Given the description of an element on the screen output the (x, y) to click on. 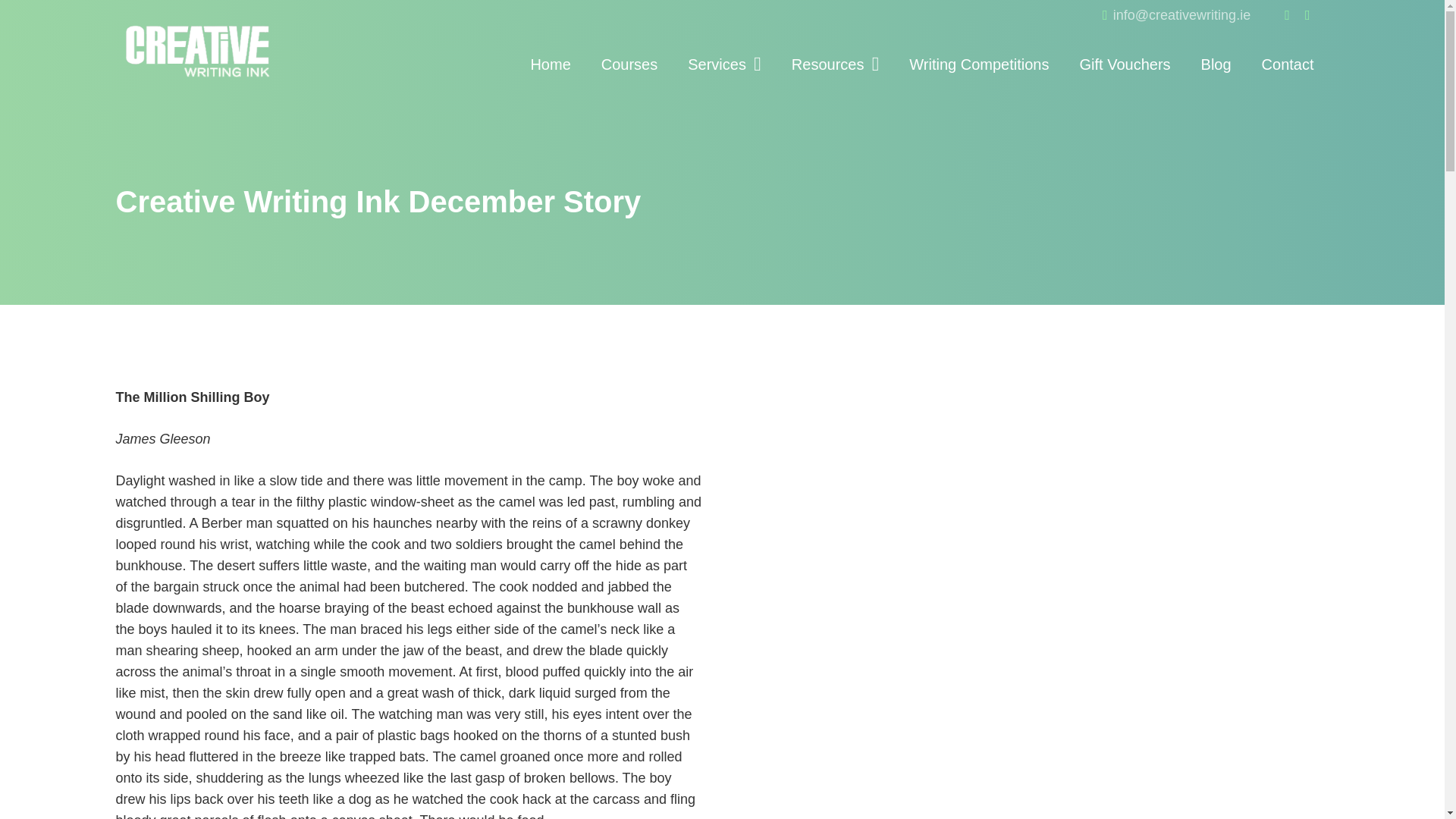
Contact (1287, 64)
Blog (1216, 64)
Services (724, 64)
Twitter (1307, 15)
Writing Competitions (978, 64)
Resources (835, 64)
Home (550, 64)
Facebook (1287, 15)
Courses (629, 64)
Gift Vouchers (1124, 64)
